Given the description of an element on the screen output the (x, y) to click on. 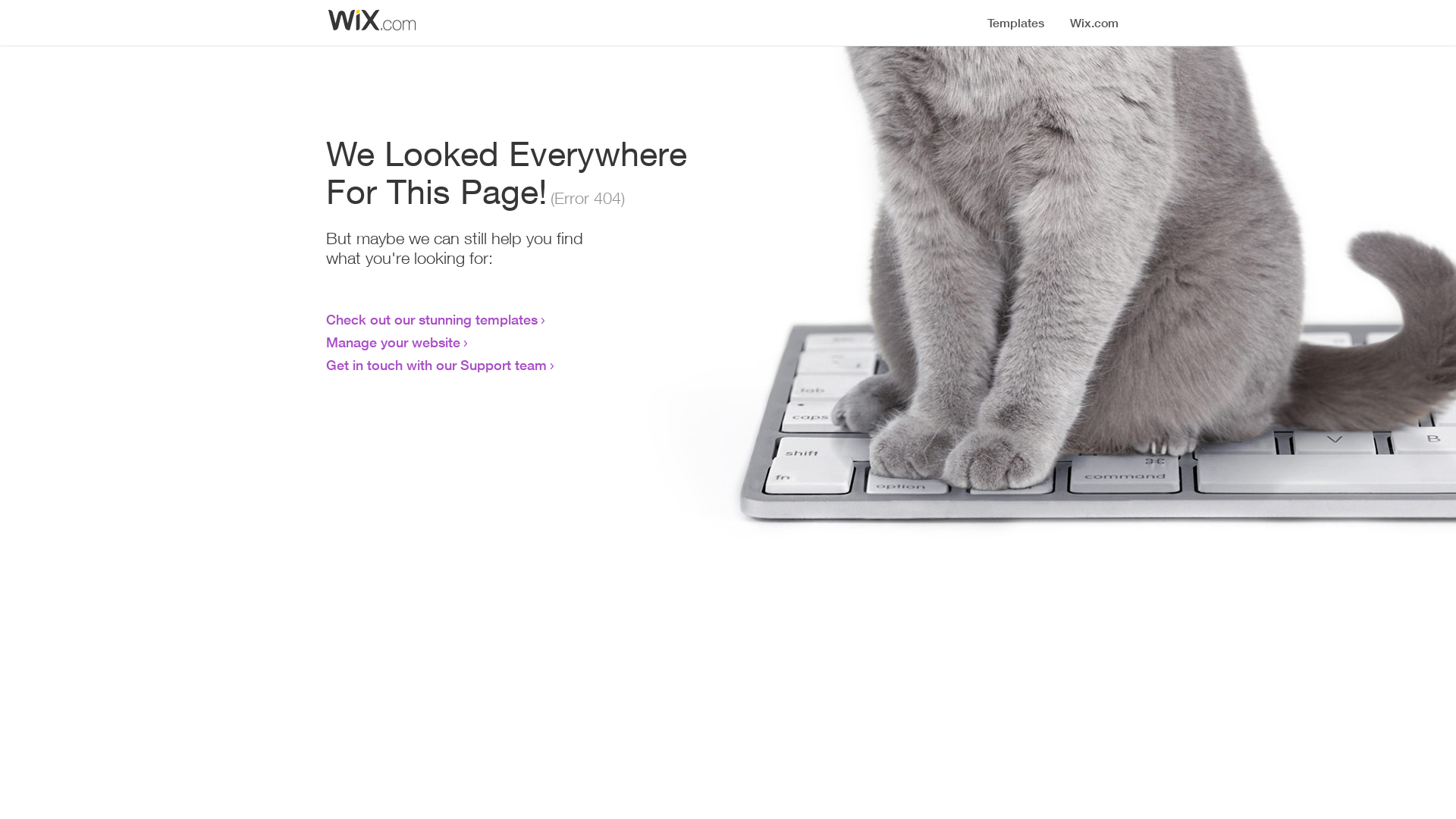
Get in touch with our Support team Element type: text (436, 364)
Manage your website Element type: text (393, 341)
Check out our stunning templates Element type: text (431, 318)
